Given the description of an element on the screen output the (x, y) to click on. 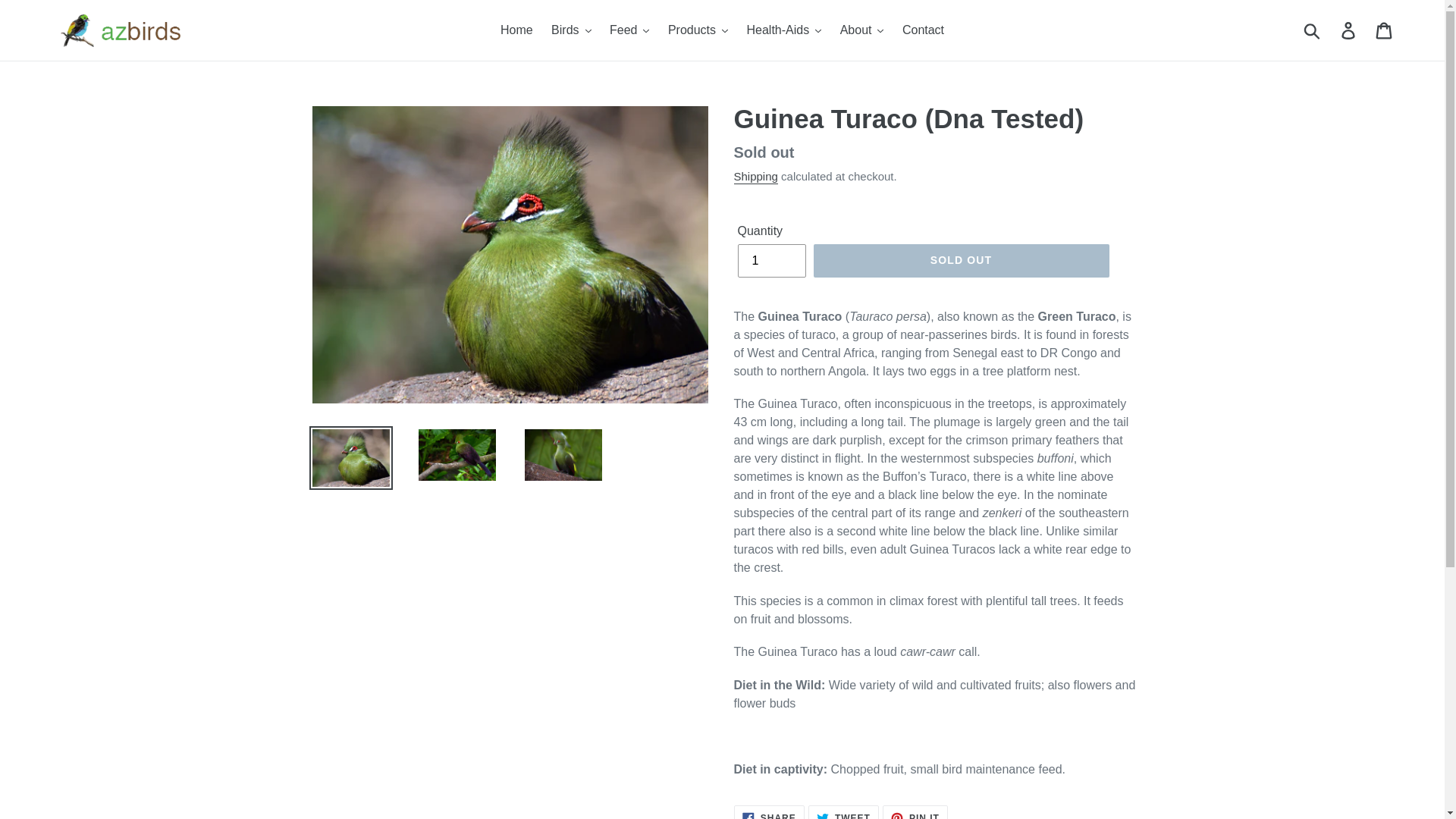
1 (770, 260)
Home (516, 29)
